Given the description of an element on the screen output the (x, y) to click on. 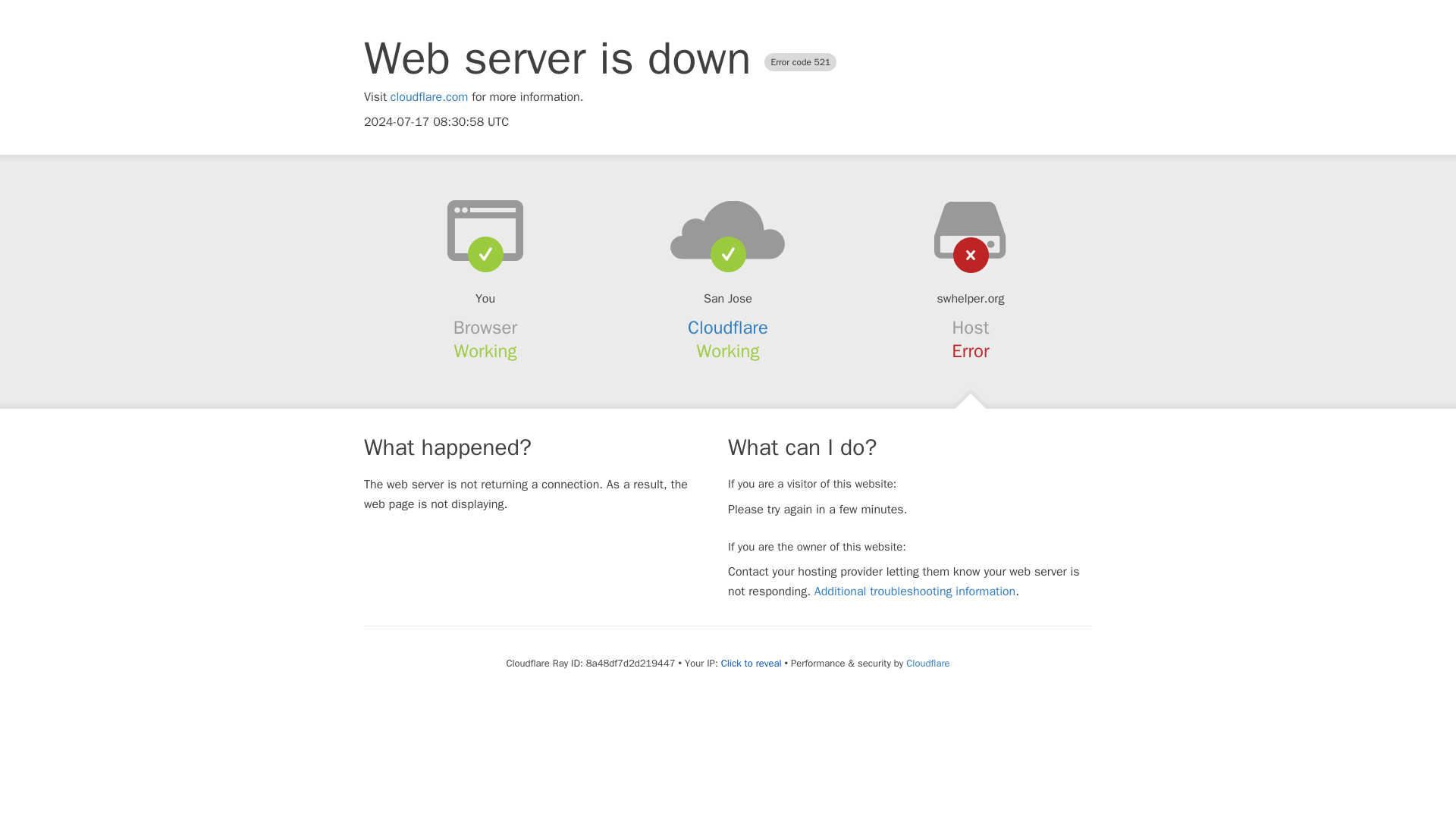
Cloudflare (927, 662)
Click to reveal (750, 663)
Cloudflare (727, 327)
cloudflare.com (429, 96)
Additional troubleshooting information (913, 590)
